Given the description of an element on the screen output the (x, y) to click on. 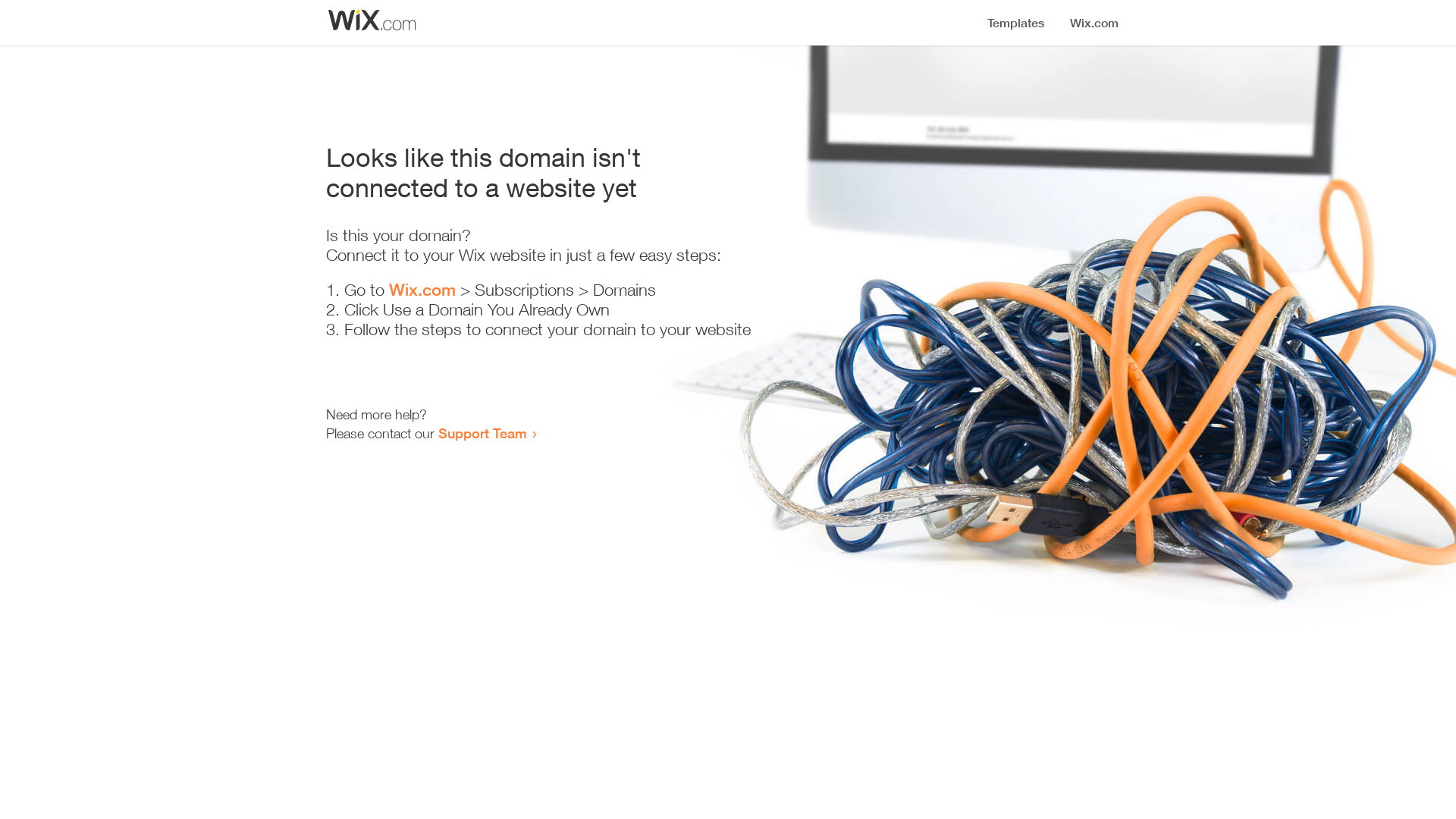
Wix.com Element type: text (422, 289)
Support Team Element type: text (482, 432)
